Given the description of an element on the screen output the (x, y) to click on. 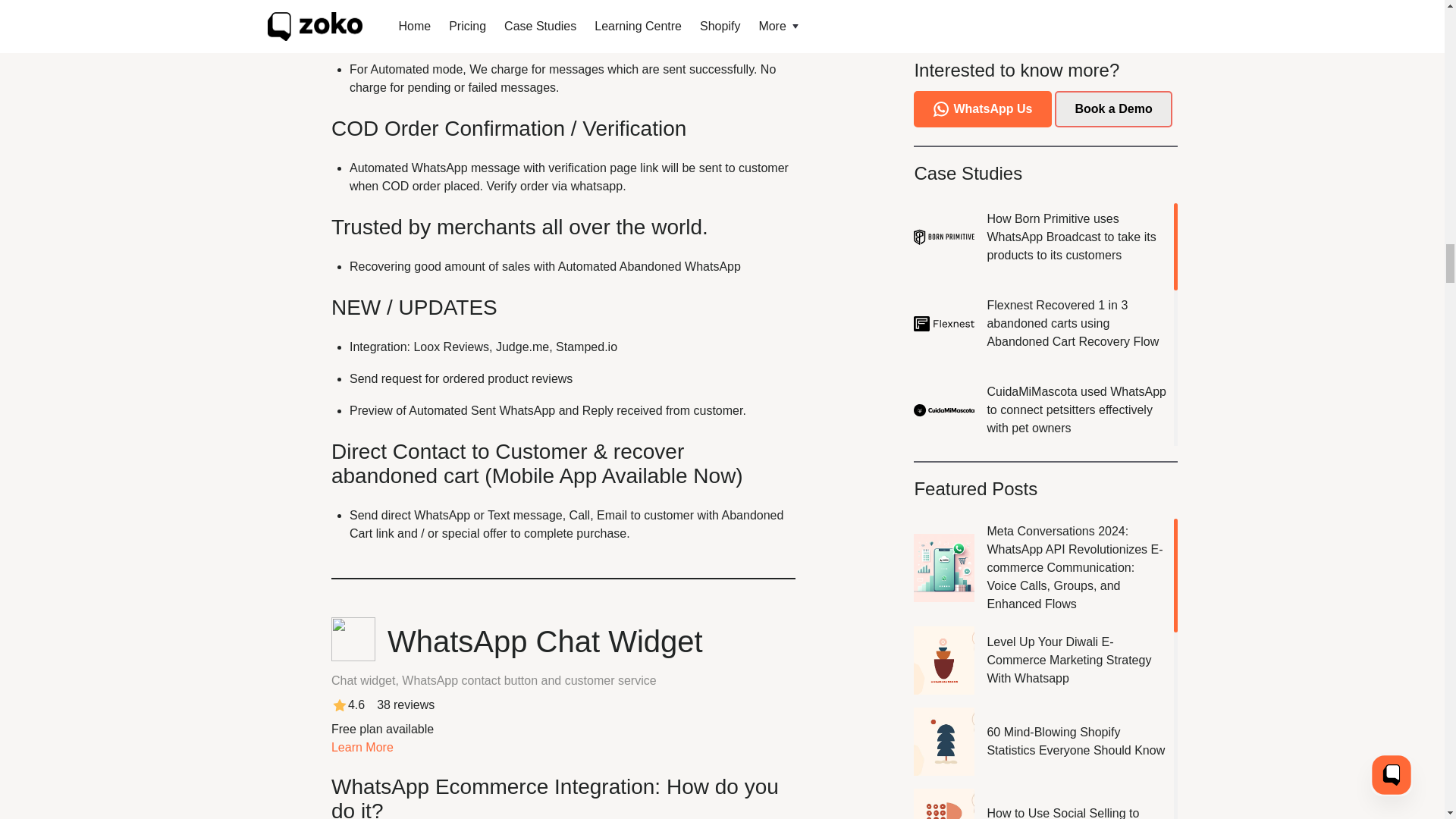
Learn More (362, 747)
